Given the description of an element on the screen output the (x, y) to click on. 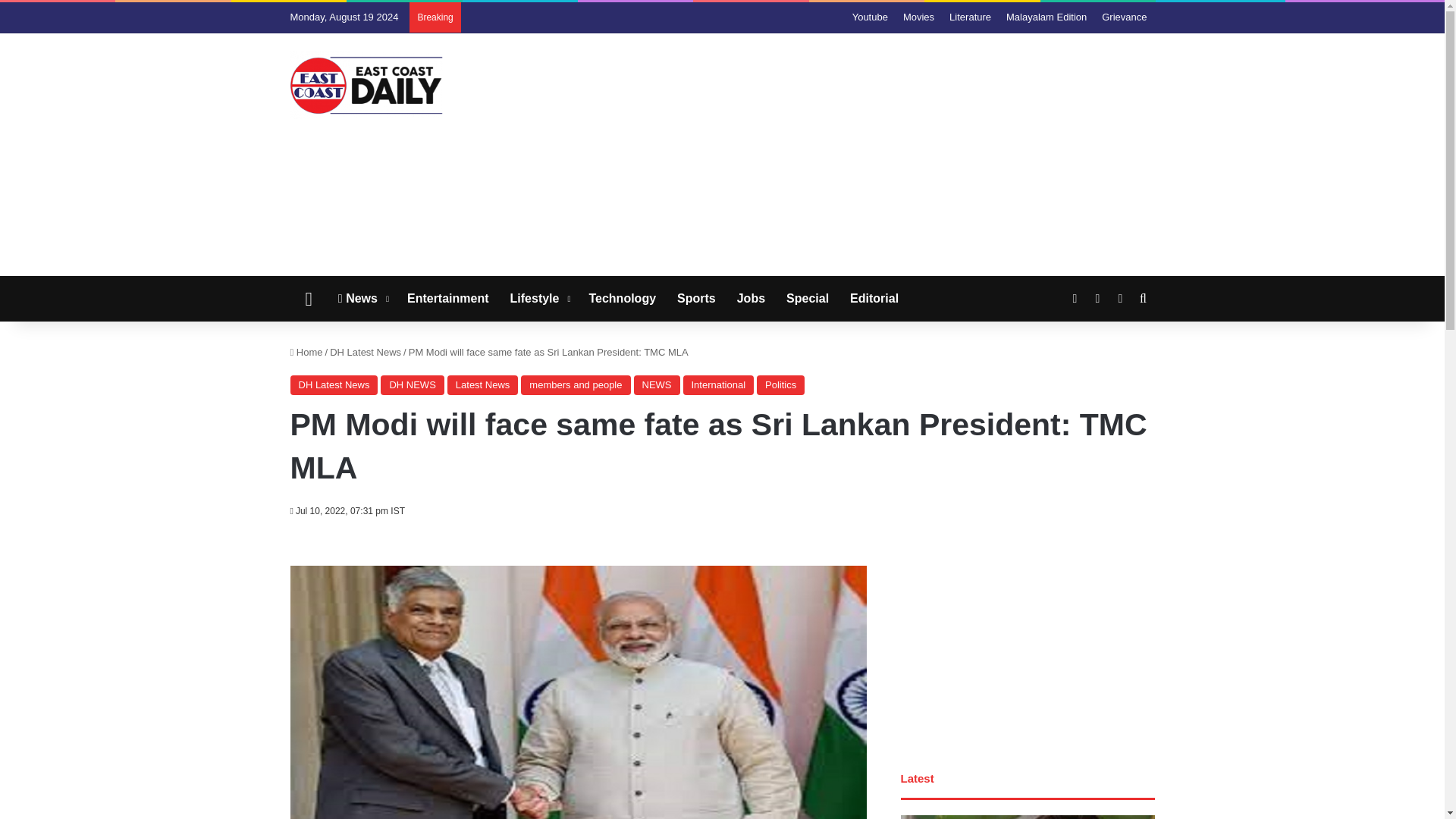
Movies (918, 17)
Jobs (751, 298)
Grievance (1124, 17)
Editorial (874, 298)
Sports (696, 298)
Special (808, 298)
Youtube (869, 17)
Entertainment (447, 298)
Literature (970, 17)
Lifestyle (538, 298)
